Given the description of an element on the screen output the (x, y) to click on. 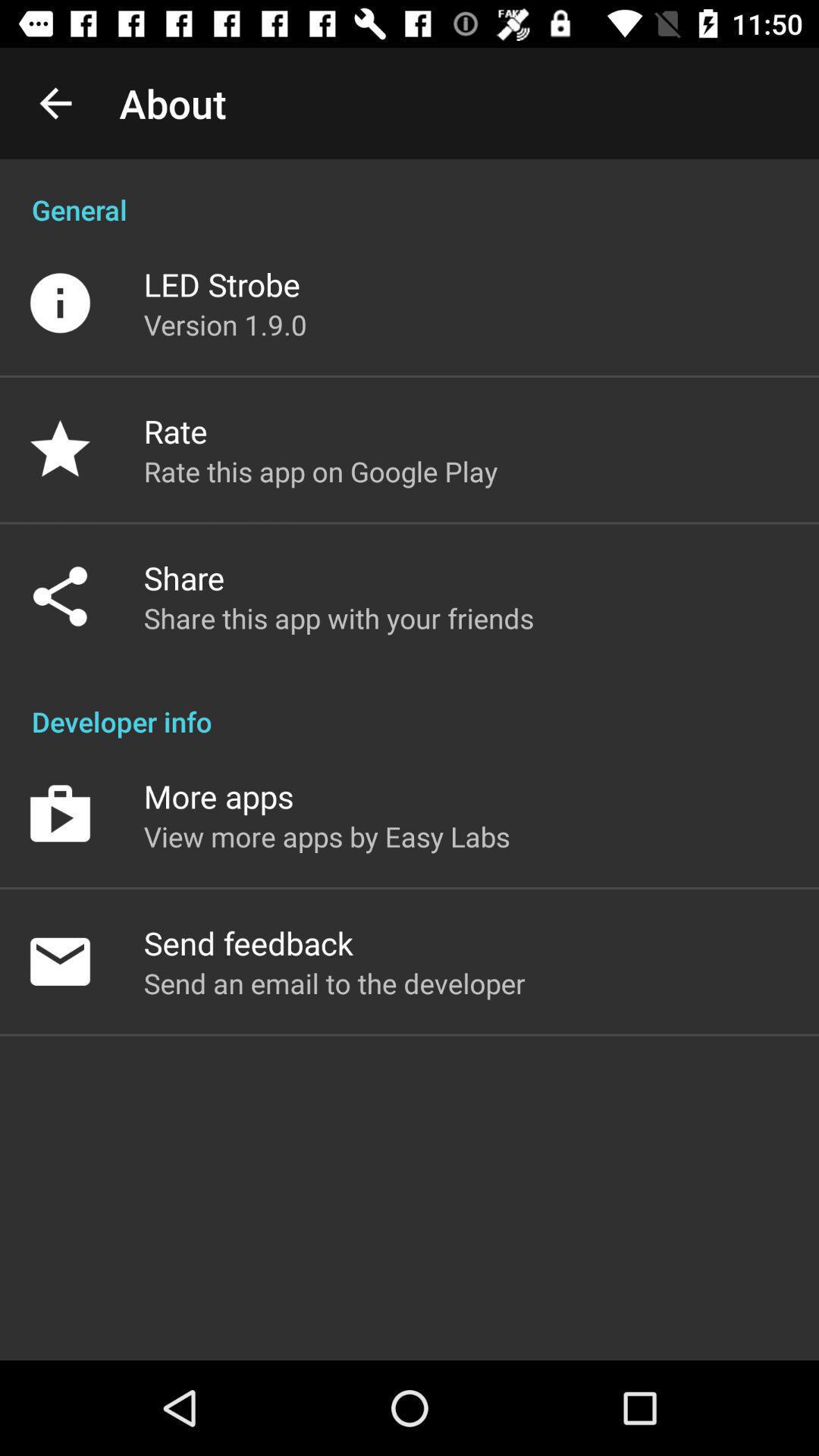
press the item above general item (55, 103)
